Given the description of an element on the screen output the (x, y) to click on. 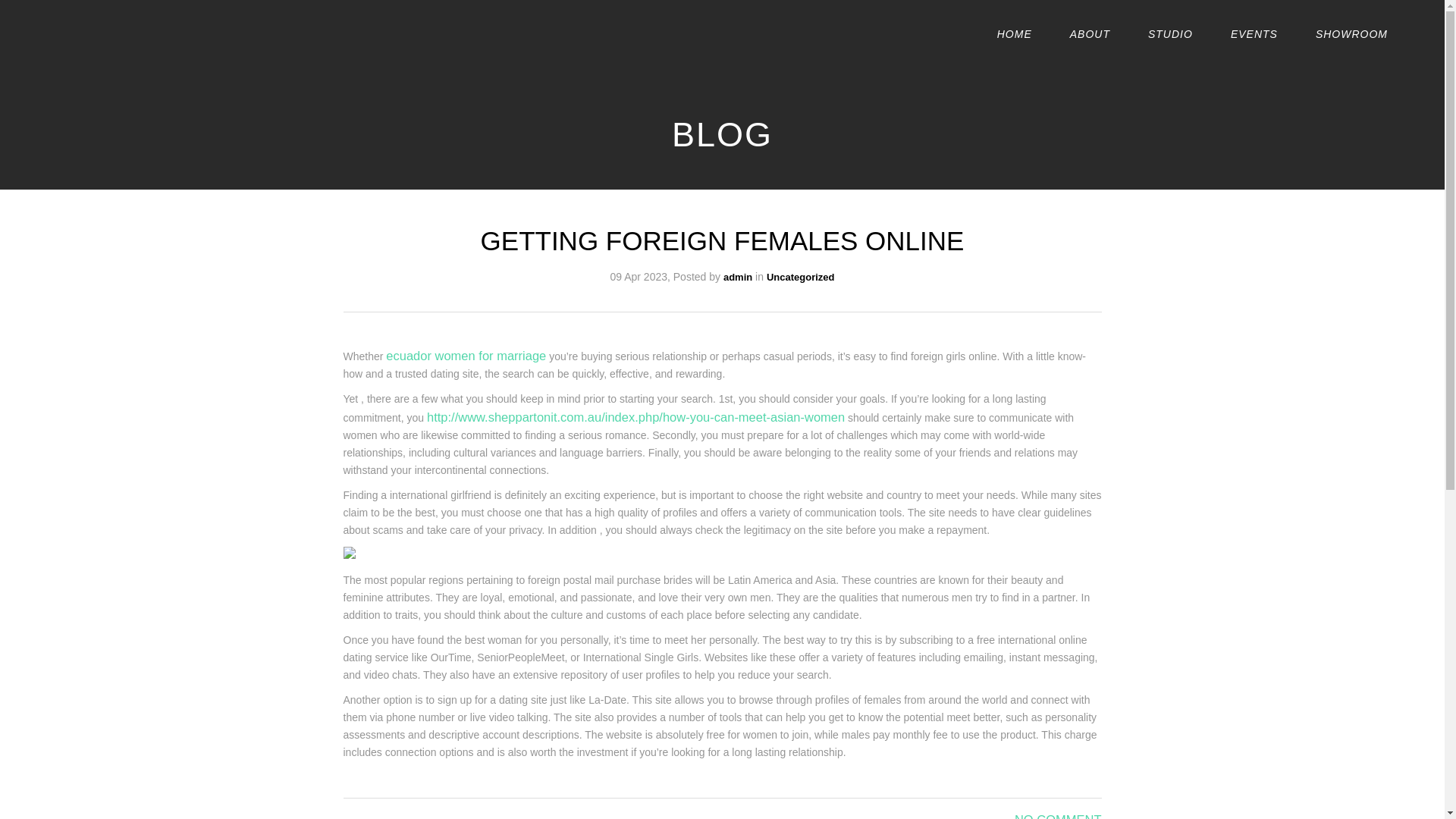
ABOUT (1090, 33)
ecuador women for marriage (465, 355)
HOME (1014, 33)
SHOWROOM (1351, 33)
EVENTS (1254, 33)
STUDIO (1170, 33)
Uncategorized (800, 276)
NO COMMENT (1058, 816)
